Given the description of an element on the screen output the (x, y) to click on. 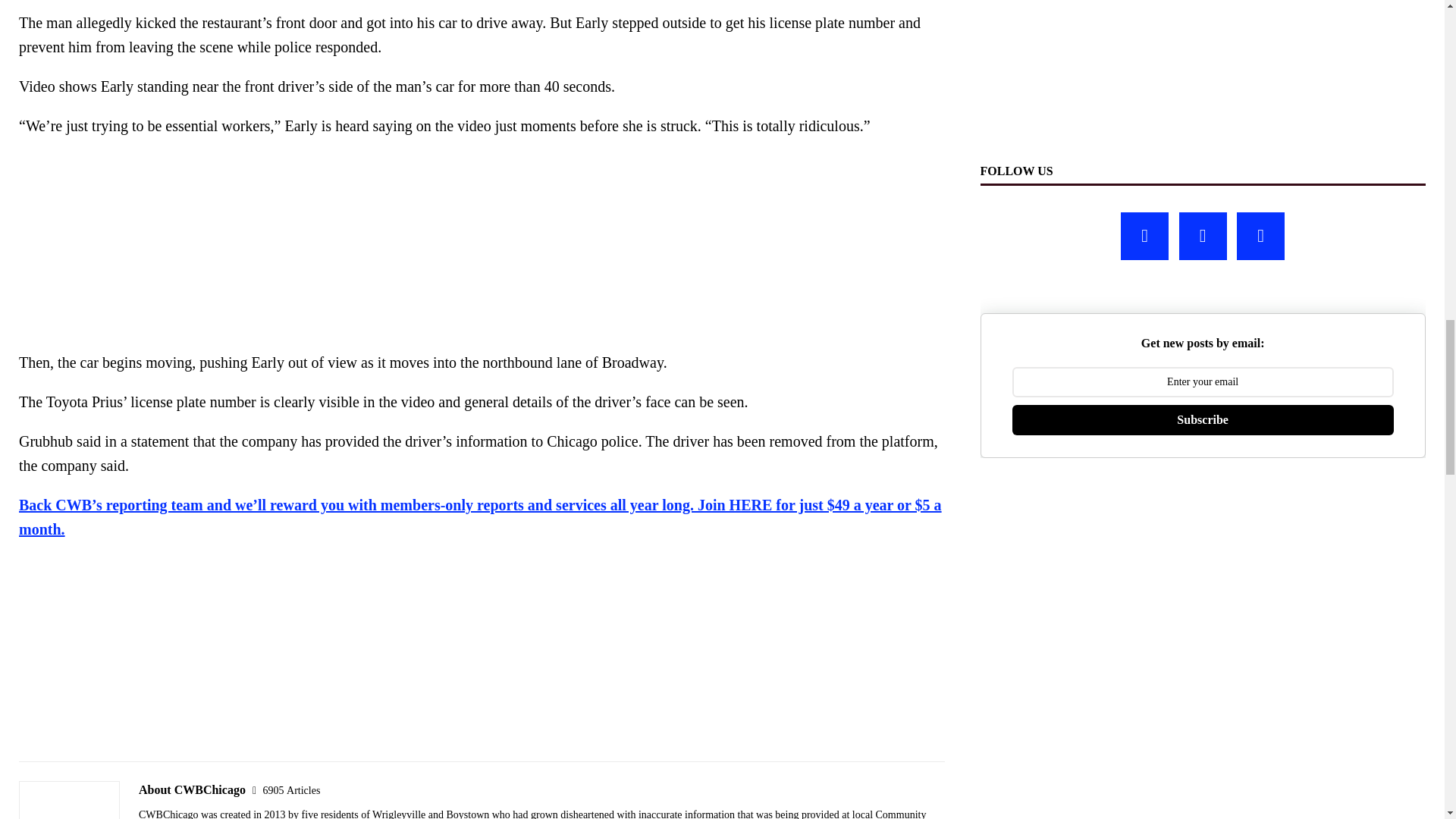
Subscribe (1202, 419)
More articles written by CWBChicago' (291, 790)
6905 Articles (291, 790)
